Given the description of an element on the screen output the (x, y) to click on. 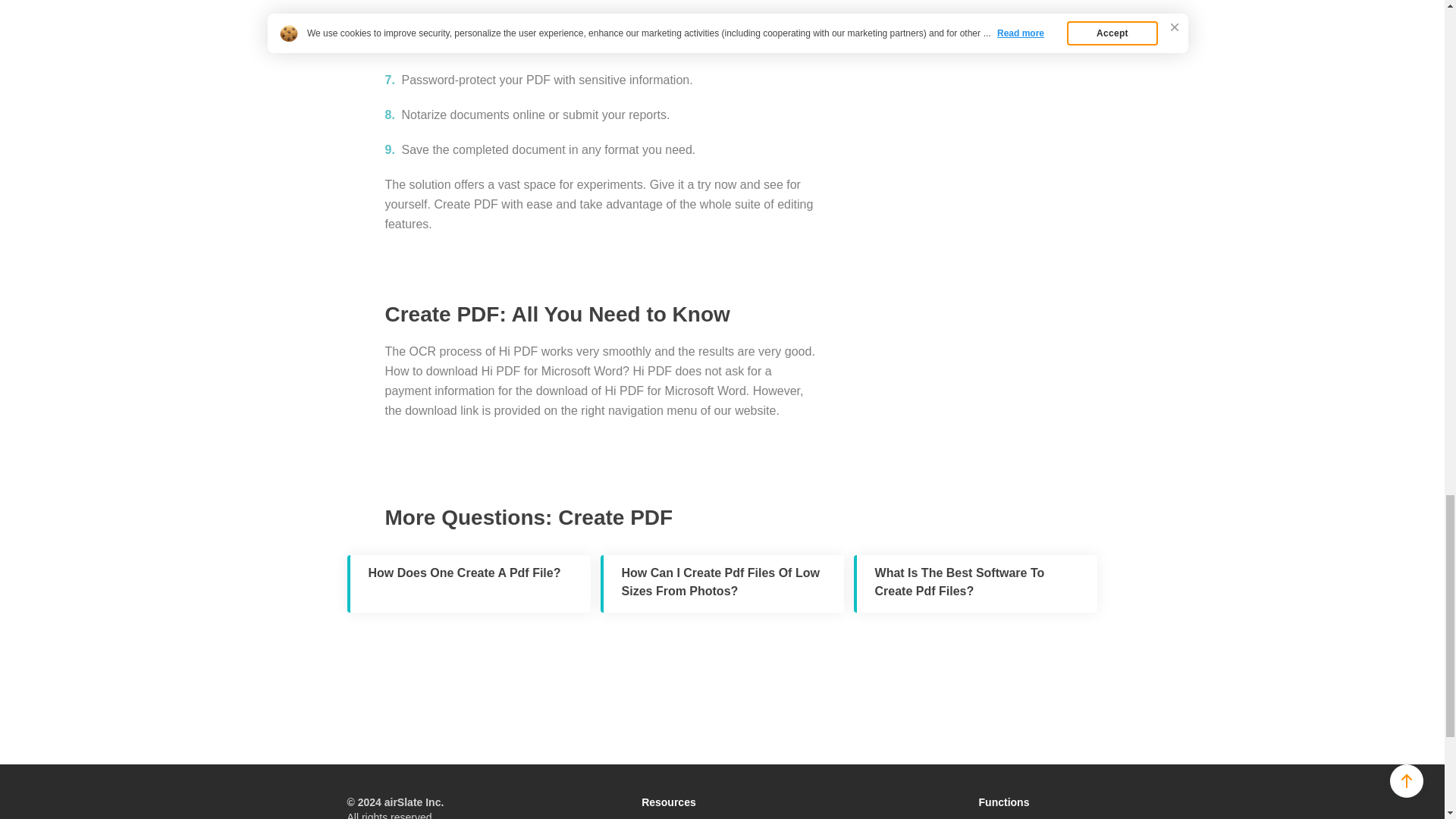
How Can I Create Pdf Files Of Low Sizes From Photos? (721, 583)
What Is The Best Software To Create Pdf Files? (975, 583)
How Does One Create A Pdf File? (469, 583)
